Given the description of an element on the screen output the (x, y) to click on. 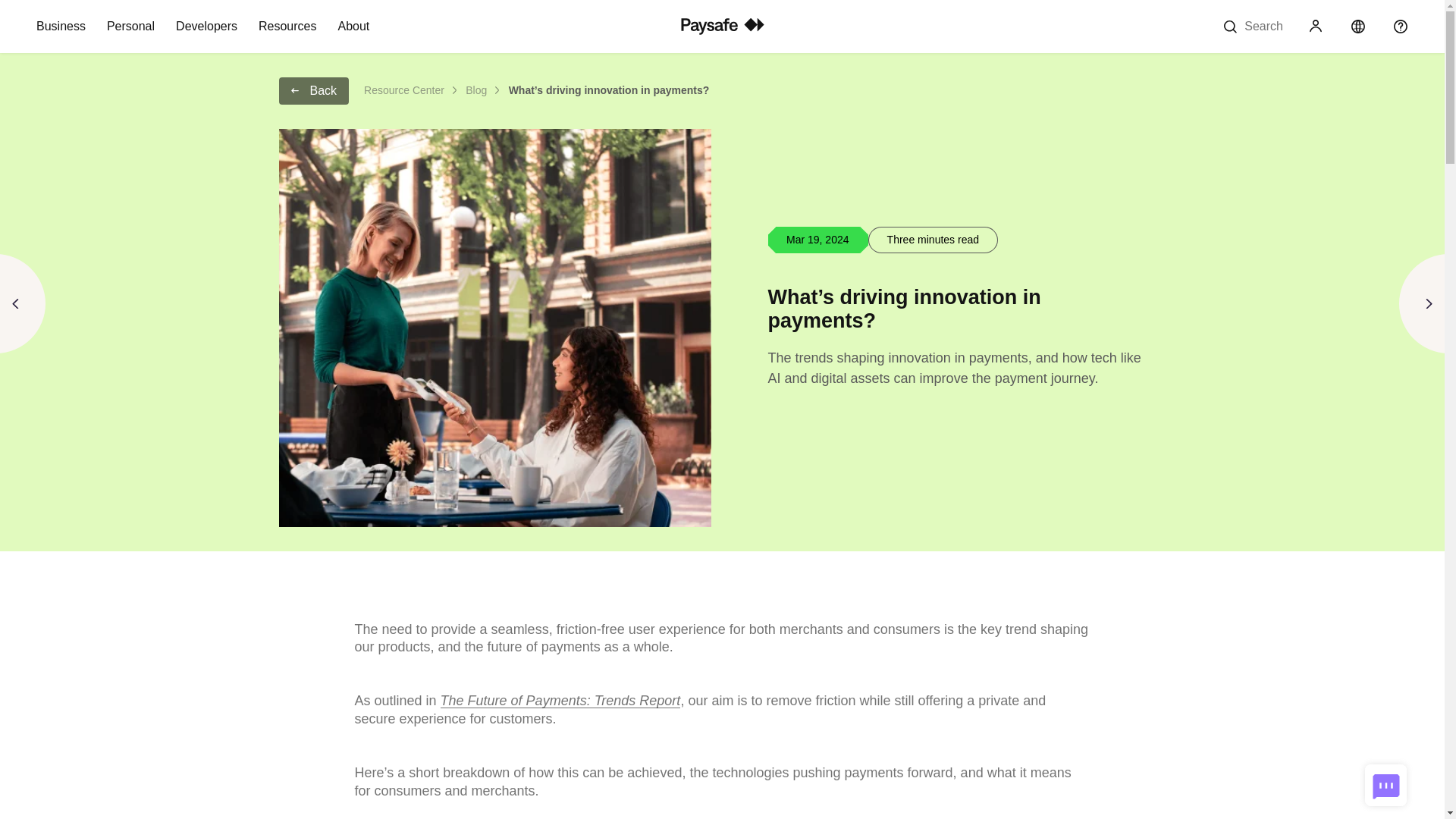
Developers (206, 26)
Business (60, 26)
Resources (286, 26)
Personal (130, 26)
